Given the description of an element on the screen output the (x, y) to click on. 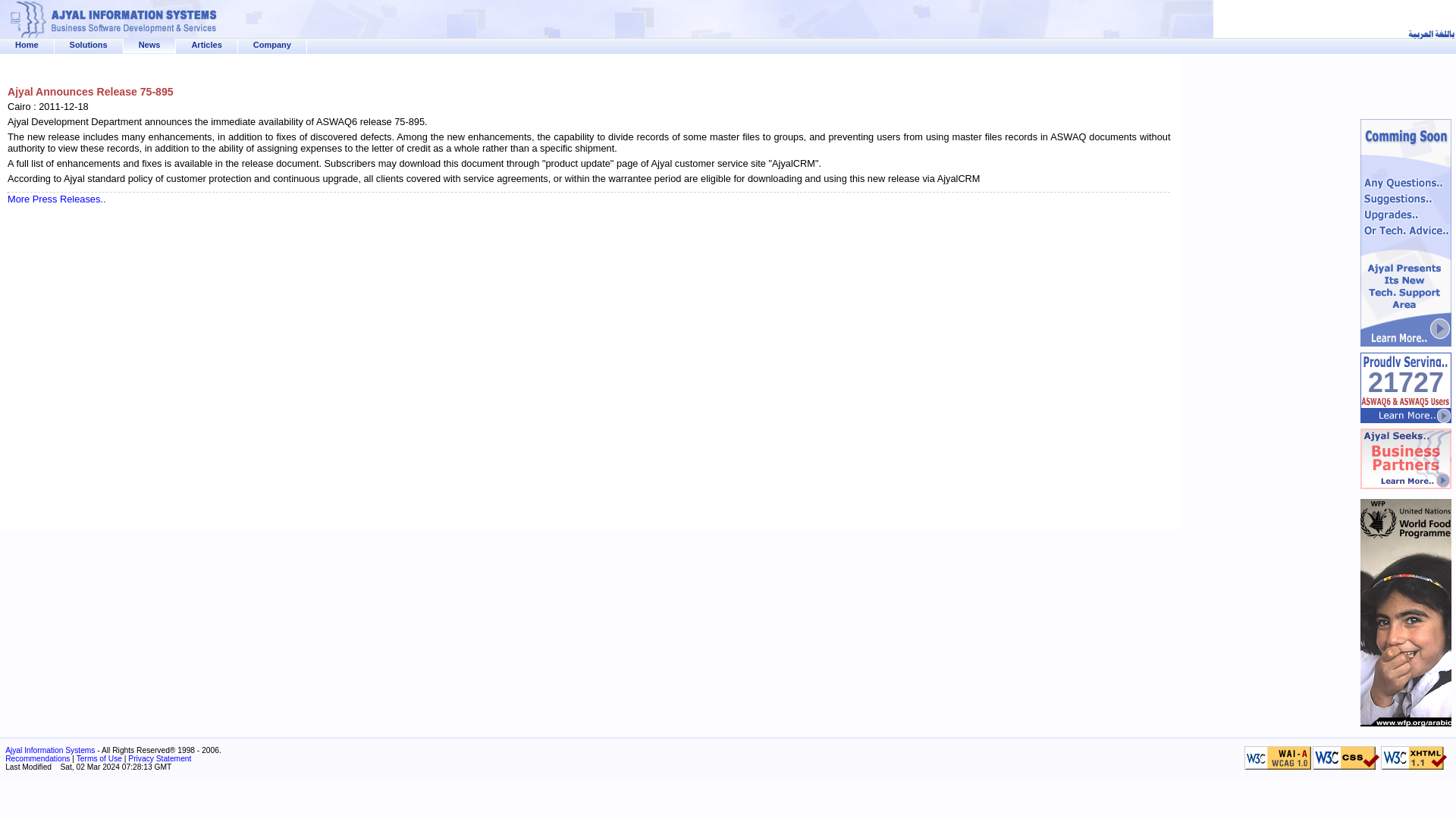
21727 (1406, 382)
Company (272, 44)
Privacy Statement (159, 758)
Recommendations (37, 758)
More Press Releases.. (55, 198)
Terms of Use (99, 758)
Ajyal Information Systems (49, 750)
Articles (205, 44)
Solutions (88, 44)
More Press Releases.. (55, 198)
